Given the description of an element on the screen output the (x, y) to click on. 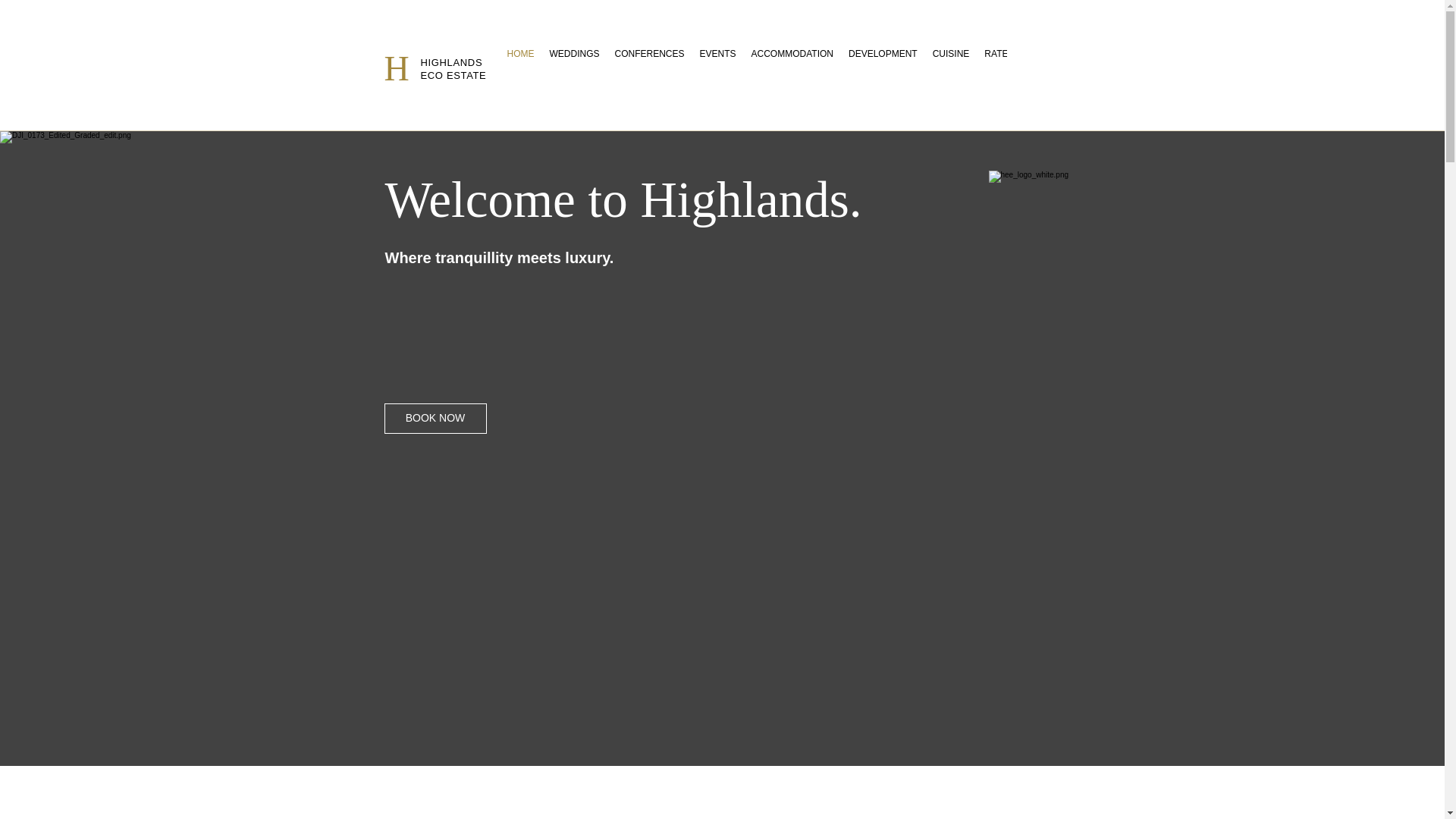
RATES (999, 66)
ECO ESTATE (453, 75)
HIGHLANDS (450, 61)
EVENTS (718, 66)
HOME (520, 66)
WEDDINGS (574, 66)
CONFERENCES (649, 66)
CUISINE (950, 66)
BOOK NOW (435, 418)
ACCOMMODATION (792, 66)
DEVELOPMENT (882, 66)
